Given the description of an element on the screen output the (x, y) to click on. 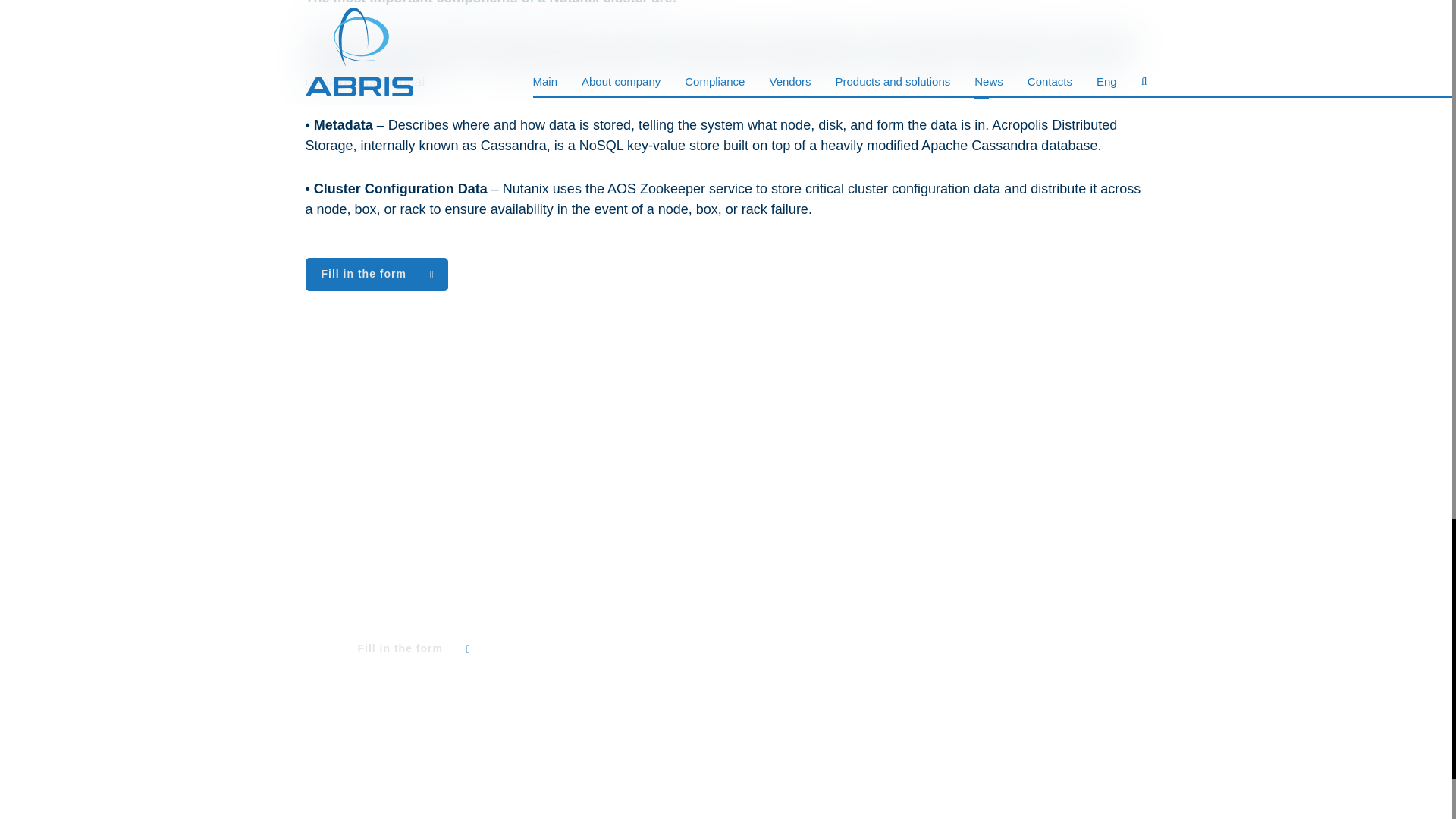
Main (1131, 453)
Vendors (1121, 509)
About company (1099, 481)
Fill in the form (375, 274)
Offices map (1110, 623)
Contacts (1120, 565)
Products and solutions (1078, 537)
Fill in the form (411, 648)
